Given the description of an element on the screen output the (x, y) to click on. 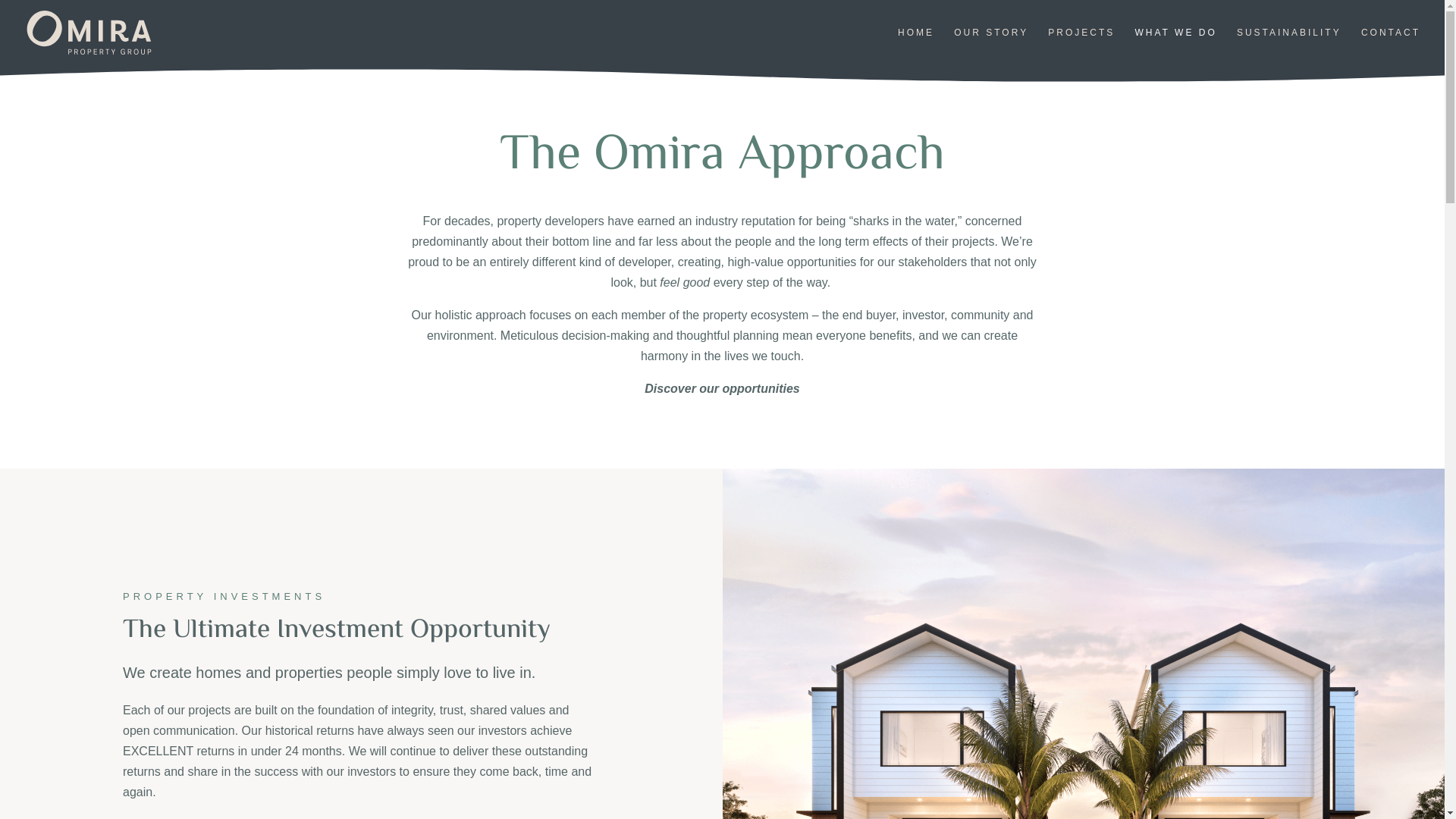
SUSTAINABILITY Element type: text (1288, 46)
WHAT WE DO Element type: text (1176, 46)
PROJECTS Element type: text (1081, 46)
HOME Element type: text (915, 46)
CONTACT Element type: text (1390, 46)
OUR STORY Element type: text (990, 46)
